Given the description of an element on the screen output the (x, y) to click on. 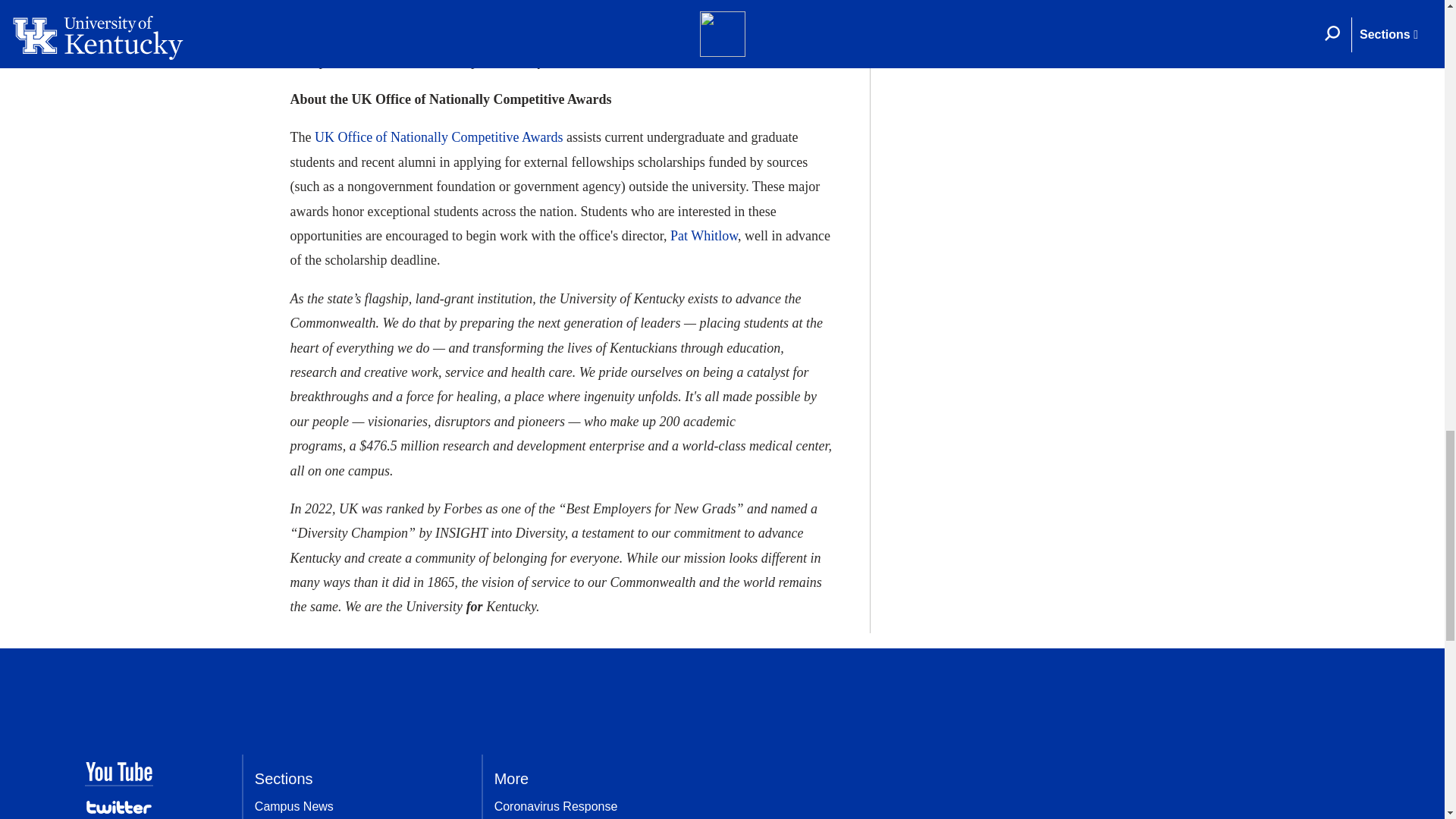
UK Office of Nationally Competitive Awards (438, 136)
Campus News (293, 806)
Pat Whitlow (703, 235)
